Given the description of an element on the screen output the (x, y) to click on. 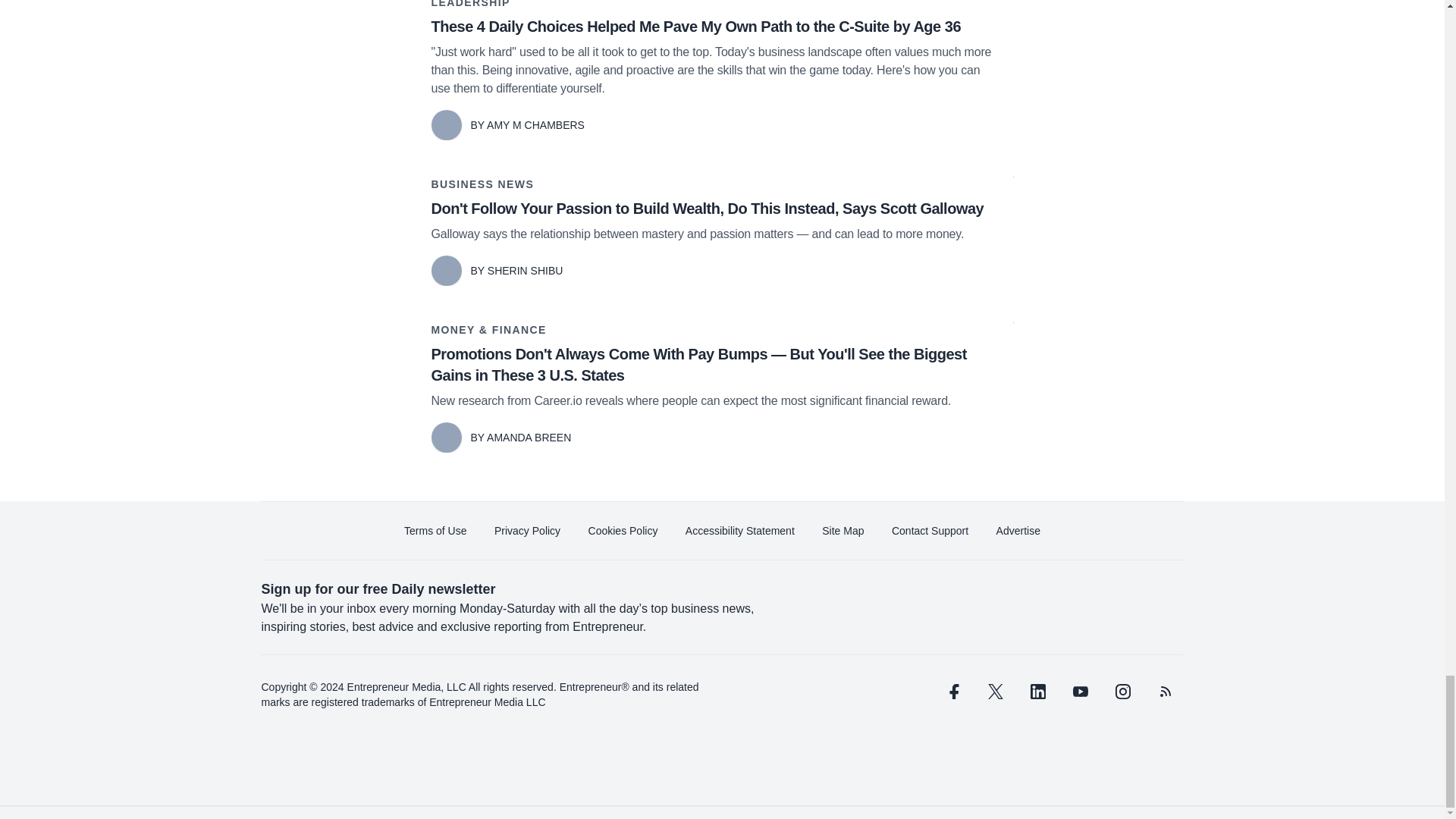
facebook (952, 691)
youtube (1079, 691)
linkedin (1037, 691)
rss (1164, 691)
twitter (994, 691)
instagram (1121, 691)
